Given the description of an element on the screen output the (x, y) to click on. 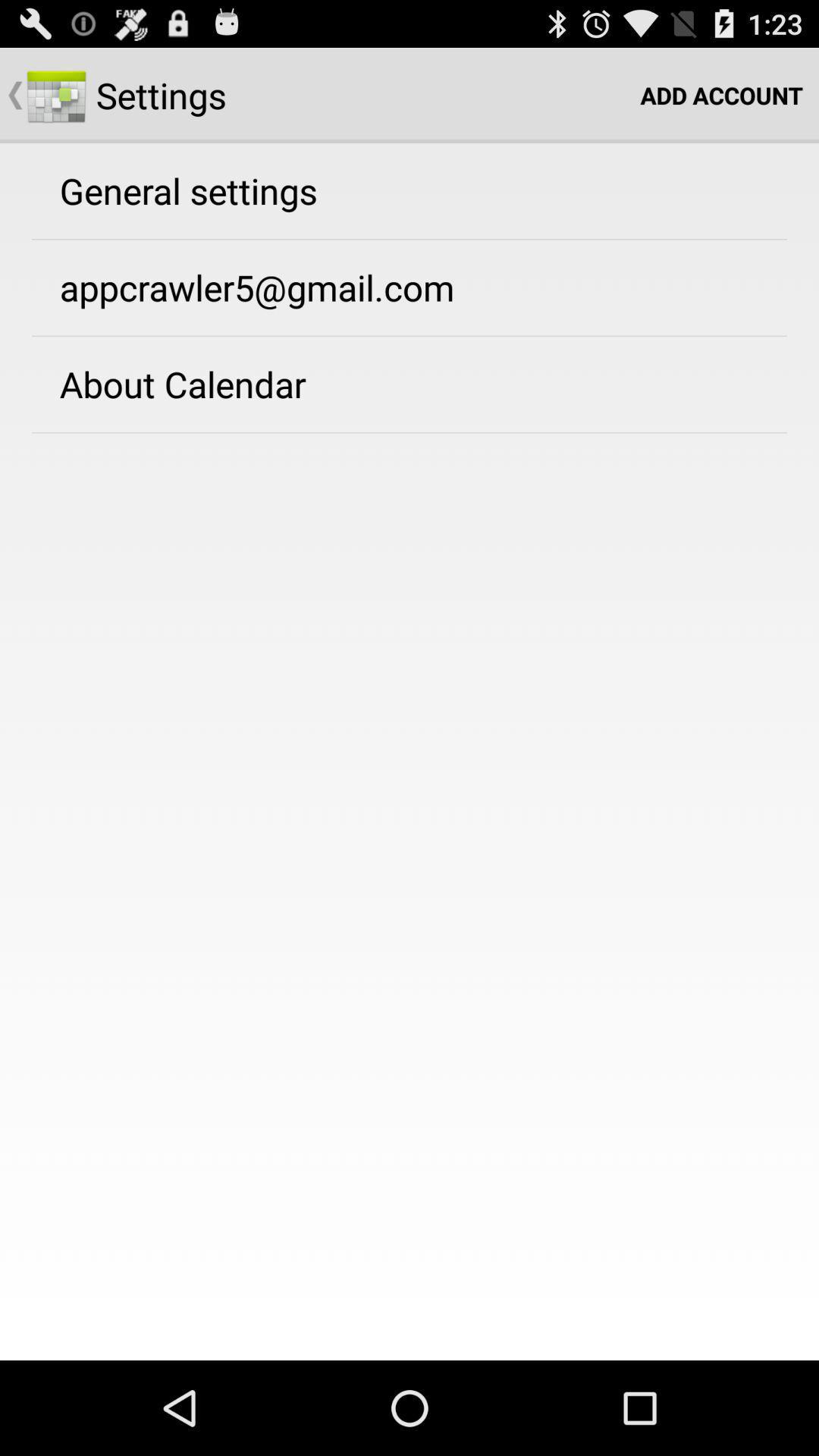
select the app to the right of settings icon (721, 95)
